Given the description of an element on the screen output the (x, y) to click on. 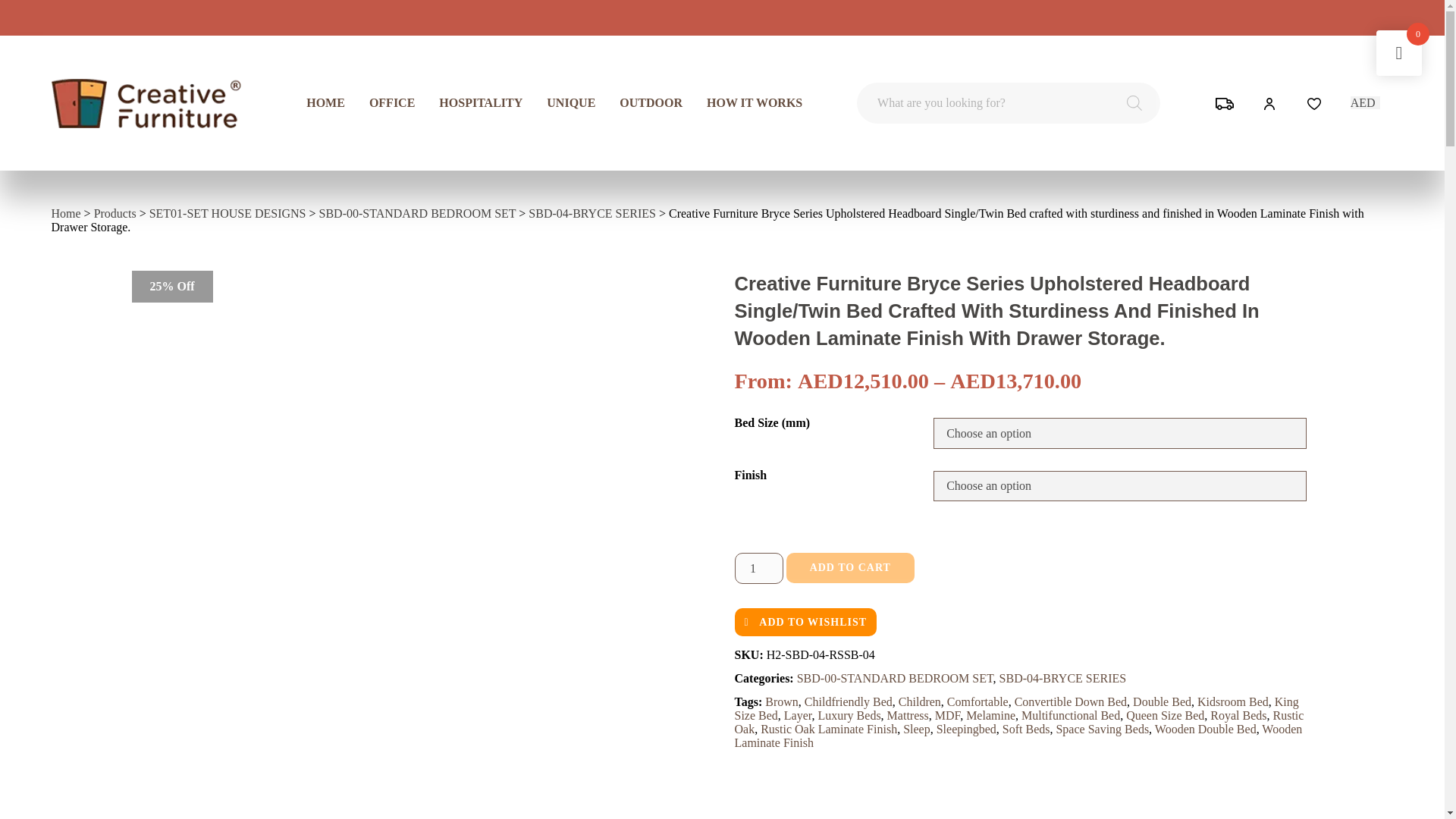
Go to the SBD-00-STANDARD BEDROOM SET Category archives. (417, 213)
Go to Creative Furniture. (65, 213)
Go to Products. (115, 213)
1 (758, 568)
Go to the SET01-SET HOUSE DESIGNS Category archives. (227, 213)
Go to the SBD-04-BRYCE SERIES Category archives. (592, 213)
